Given the description of an element on the screen output the (x, y) to click on. 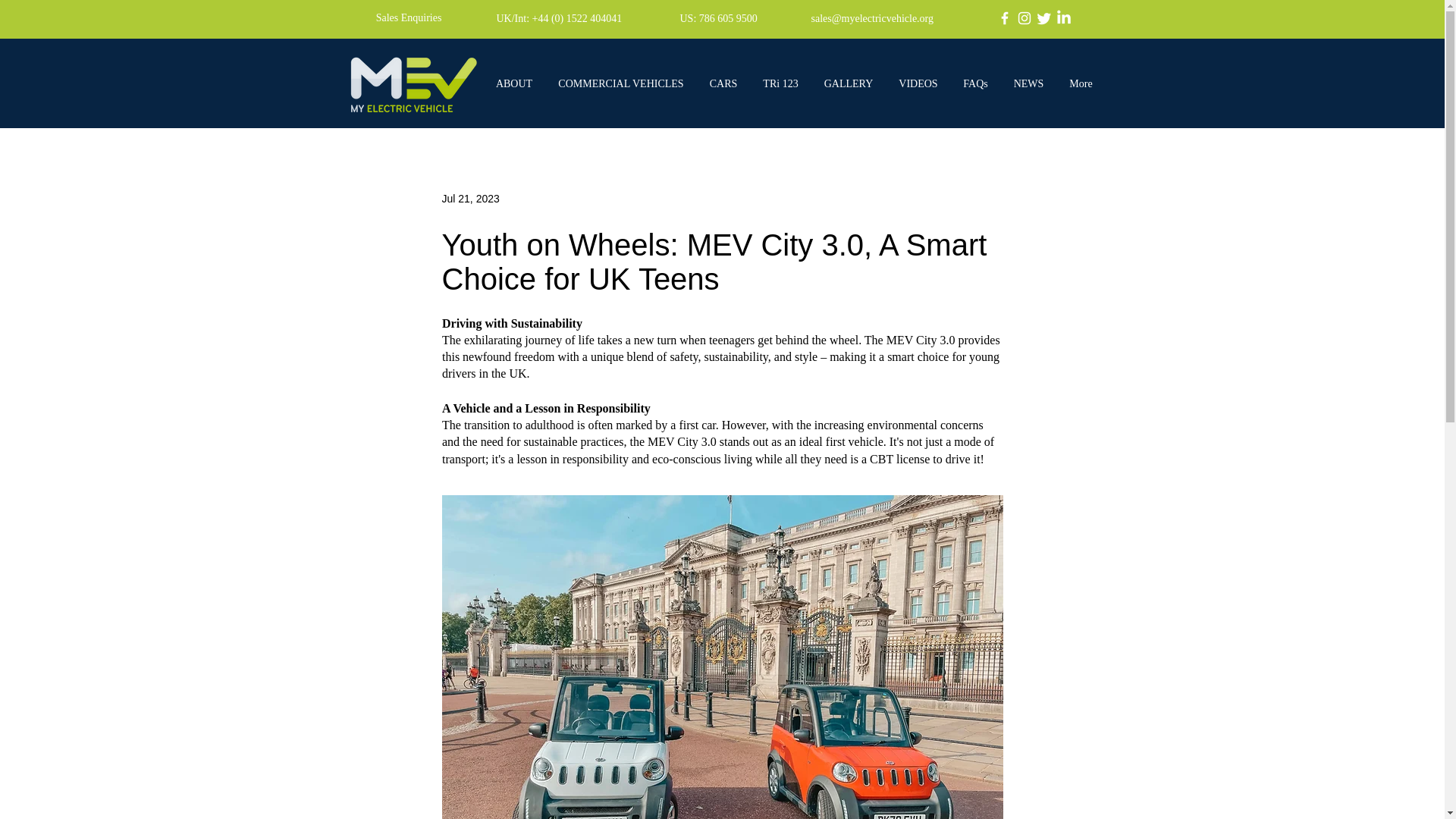
GALLERY (848, 84)
FAQs (975, 84)
Jul 21, 2023 (470, 198)
CARS (722, 84)
ABOUT (512, 84)
Sales Enquiries (408, 17)
NEWS (1029, 84)
VIDEOS (917, 84)
TRi 123 (780, 84)
COMMERCIAL VEHICLES (621, 84)
